Given the description of an element on the screen output the (x, y) to click on. 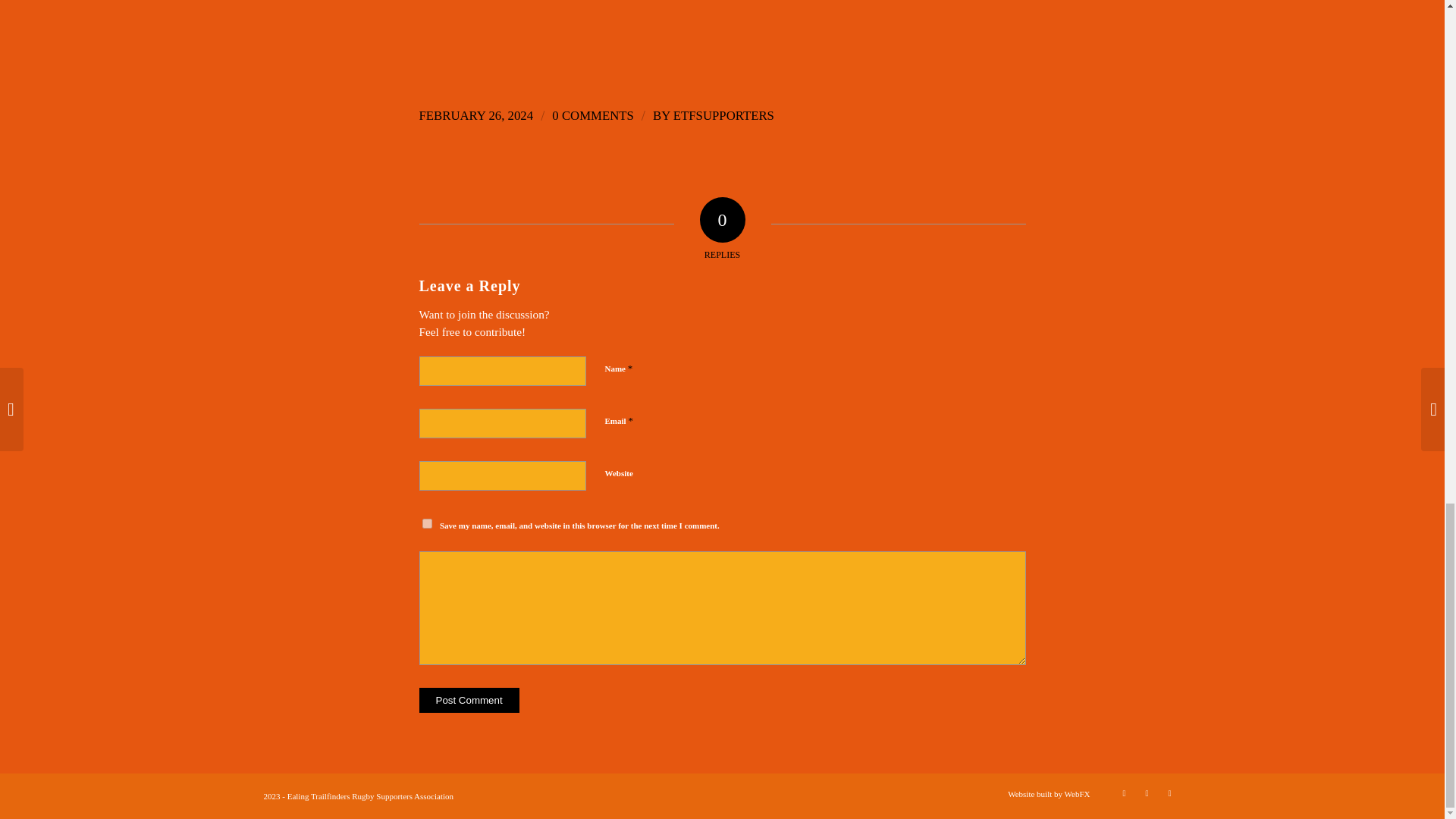
0 COMMENTS (592, 115)
Posts by etfsupporters (723, 115)
Website built by WebFX (1048, 793)
Twitter (1124, 793)
Post Comment (468, 699)
Instagram (1169, 793)
ETFSUPPORTERS (723, 115)
Post Comment (468, 699)
Facebook (1146, 793)
yes (426, 523)
